Given the description of an element on the screen output the (x, y) to click on. 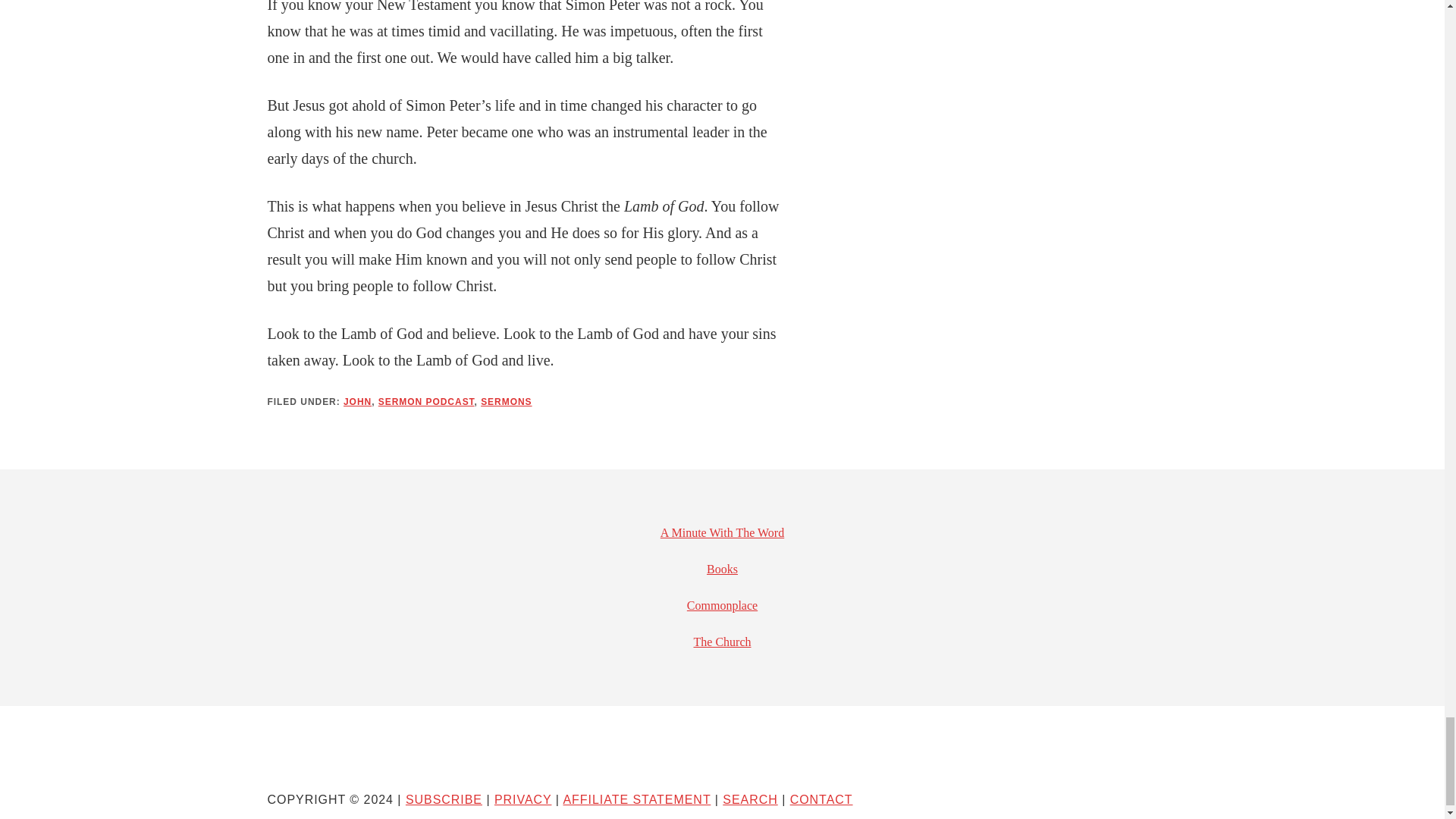
JOHN (357, 401)
A Minute With The Word (722, 532)
SERMON PODCAST (426, 401)
The Church (722, 641)
SERMONS (505, 401)
Commonplace (722, 604)
Books (722, 568)
